Given the description of an element on the screen output the (x, y) to click on. 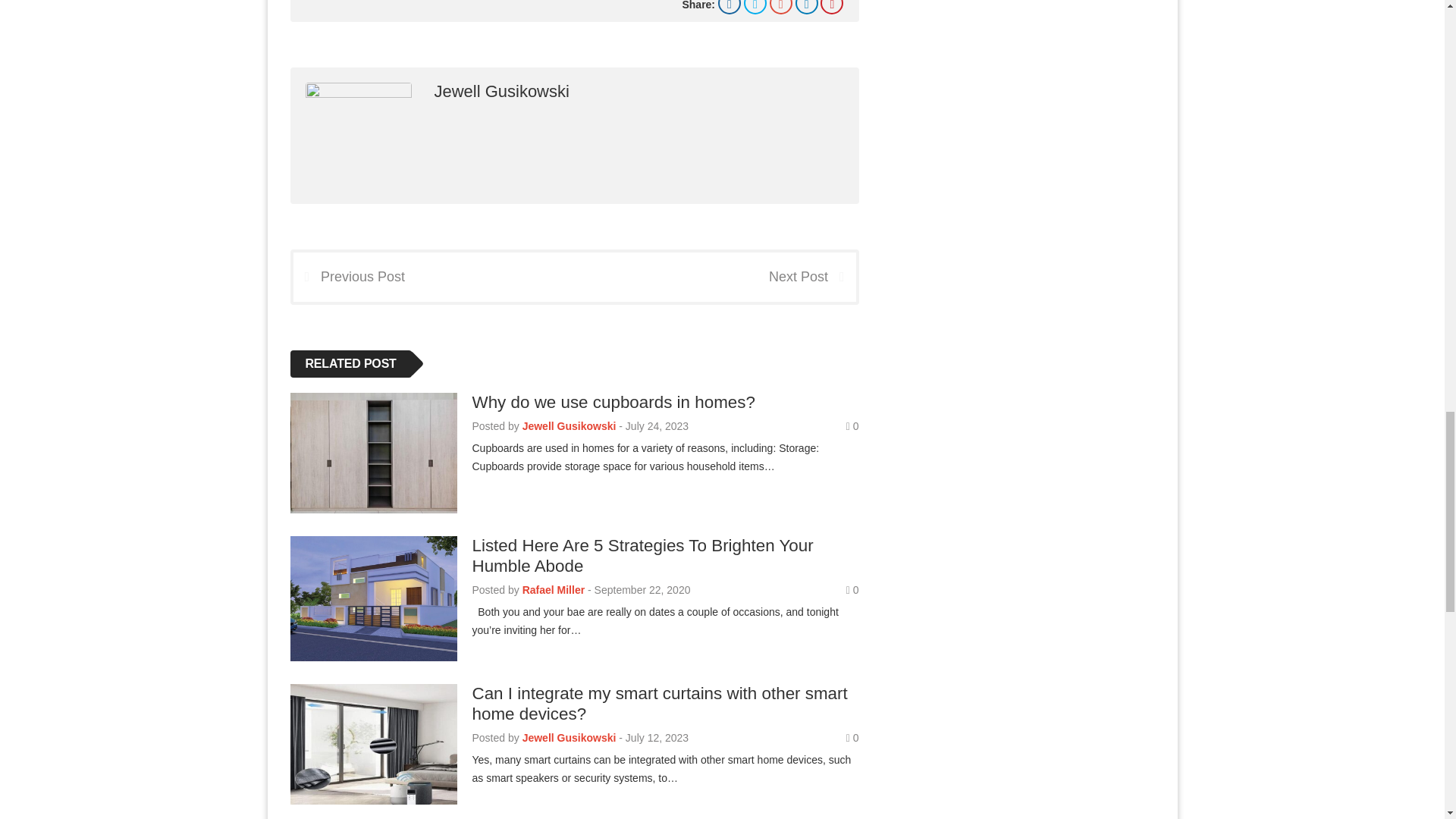
Google Plus (781, 7)
Facebook (729, 7)
0 (852, 426)
Posts by Rafael Miller (553, 589)
Pinterest (832, 7)
Linkedin (806, 7)
Previous Post (348, 276)
Next Post (812, 276)
Posts by Jewell Gusikowski (568, 426)
Jewell Gusikowski (568, 426)
Jewell Gusikowski (501, 90)
Why do we use cupboards in homes? (612, 402)
Twitter (755, 7)
